Given the description of an element on the screen output the (x, y) to click on. 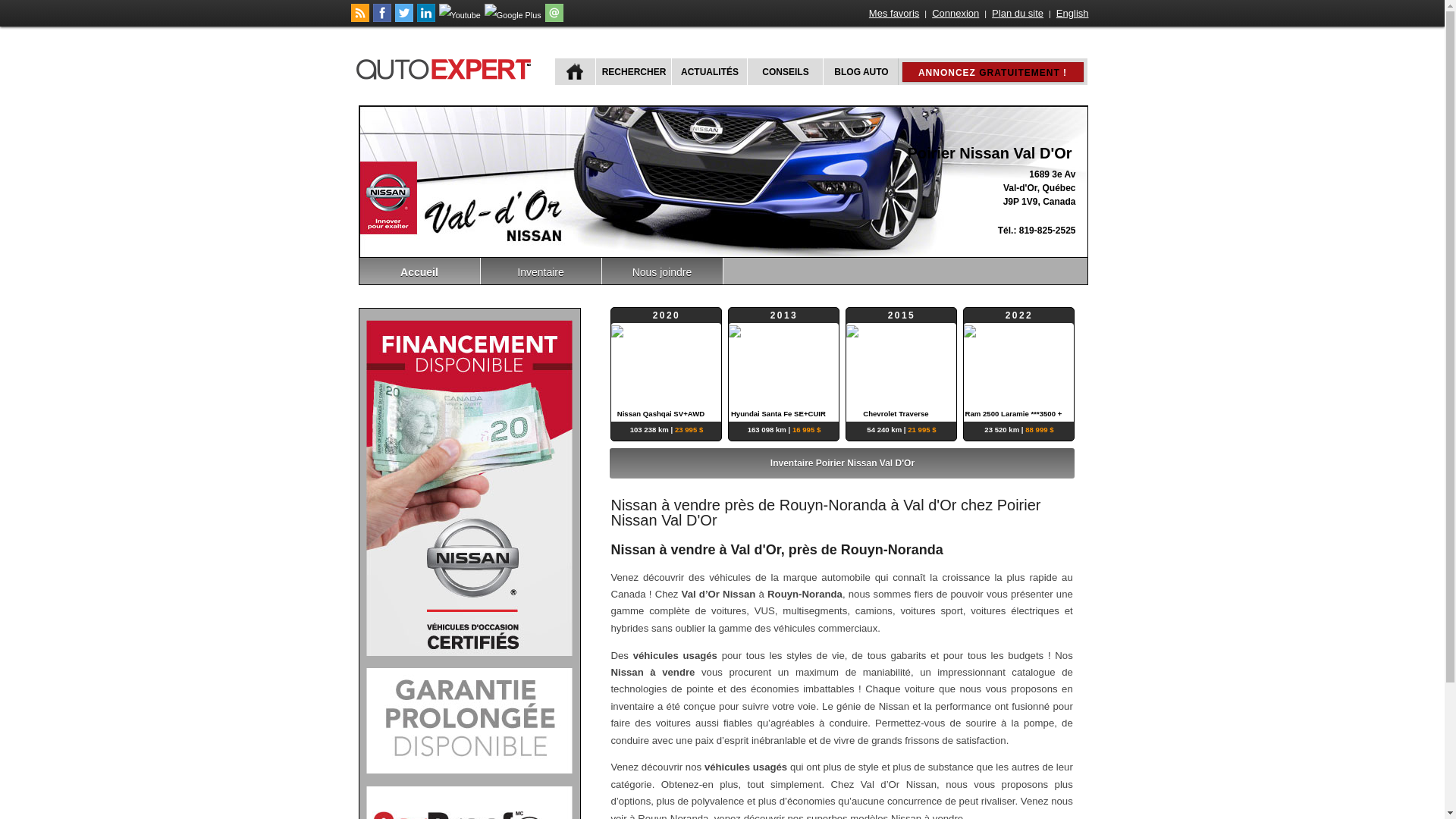
Plan du site Element type: text (1017, 13)
RECHERCHER Element type: text (631, 71)
Joindre autoExpert.ca Element type: hover (554, 18)
Suivez autoExpert.ca sur Youtube Element type: hover (459, 14)
Suivez Publications Le Guide Inc. sur LinkedIn Element type: hover (426, 18)
Connexion Element type: text (955, 13)
ACCUEIL Element type: text (575, 71)
Suivez autoExpert.ca sur Google Plus Element type: hover (512, 14)
2020
Nissan Qashqai SV+AWD 2020
103 238 km | 23 995 $ Element type: text (666, 364)
Mes favoris Element type: text (893, 13)
CONSEILS Element type: text (783, 71)
2013
Hyundai Santa Fe SE+CUIR 2013
163 098 km | 16 995 $ Element type: text (783, 364)
ANNONCEZ GRATUITEMENT ! Element type: text (992, 71)
Accueil Element type: text (419, 270)
Nous joindre Element type: text (662, 270)
Suivez autoExpert.ca sur Facebook Element type: hover (382, 18)
BLOG AUTO Element type: text (859, 71)
Inventaire Element type: text (541, 270)
Suivez autoExpert.ca sur Twitter Element type: hover (403, 18)
English Element type: text (1072, 13)
Suivant Element type: hover (1064, 461)
autoExpert.ca Element type: text (446, 66)
